Given the description of an element on the screen output the (x, y) to click on. 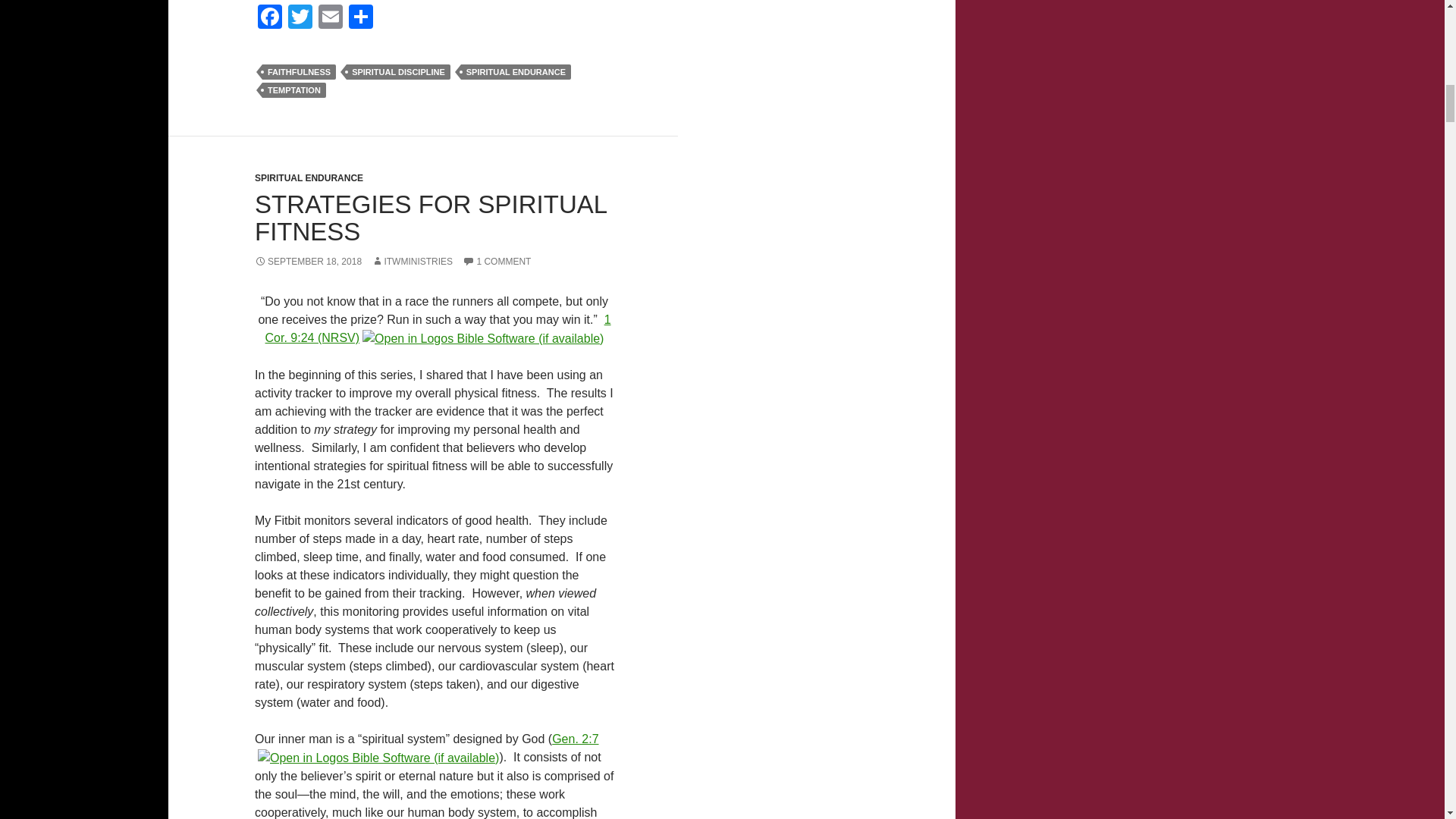
Facebook (269, 18)
Email (330, 18)
Twitter (300, 18)
